Given the description of an element on the screen output the (x, y) to click on. 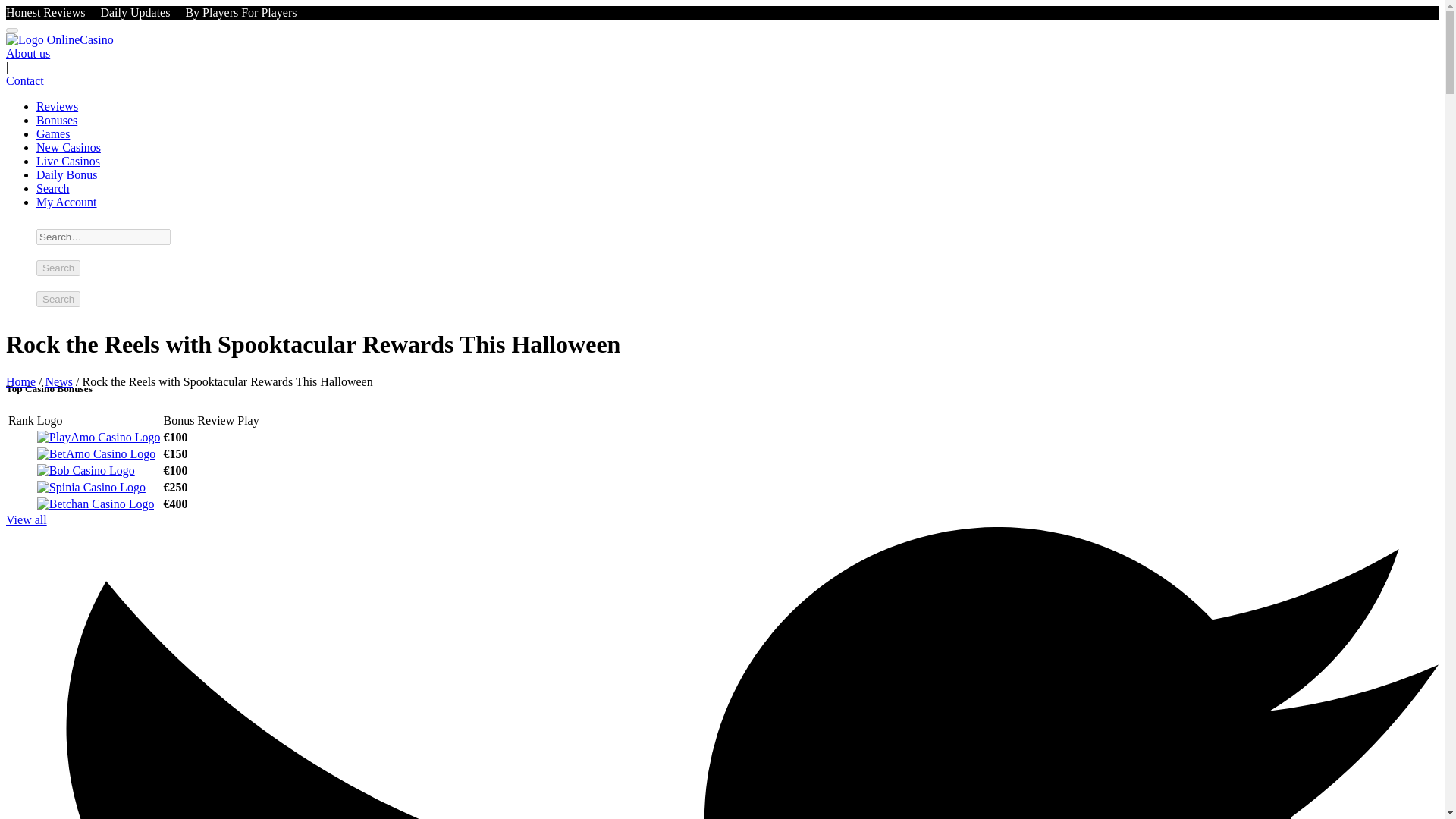
Reviews (57, 106)
View all (25, 519)
Games (52, 133)
Daily Bonus (66, 174)
Live Casinos (68, 160)
Search (52, 187)
Search (58, 268)
Search (58, 268)
About us (27, 52)
Search (58, 299)
